Given the description of an element on the screen output the (x, y) to click on. 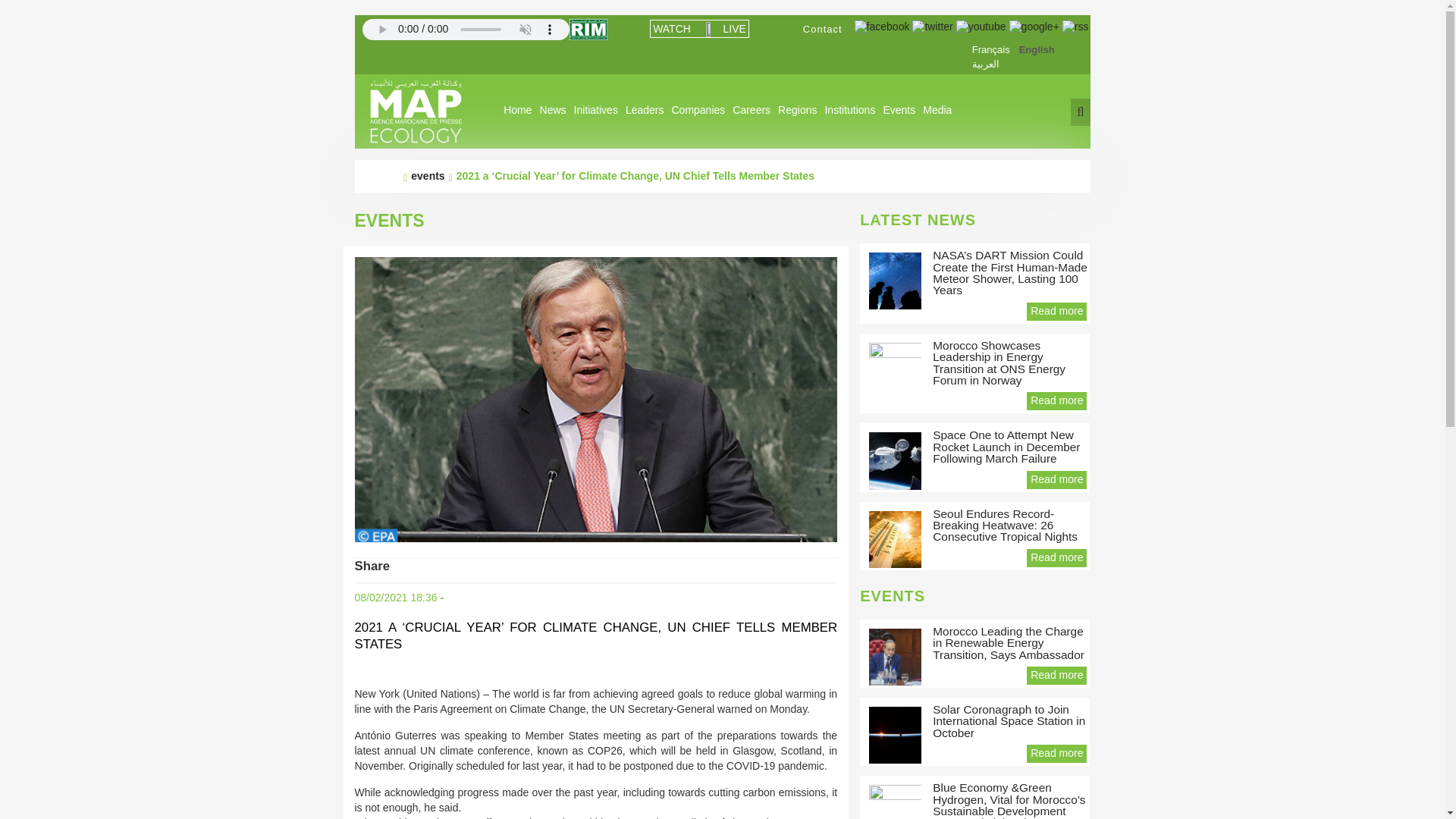
rss (1075, 26)
WATCH LIVE (698, 28)
Initiatives (595, 110)
Companies (697, 110)
Careers (751, 110)
Leaders (644, 110)
twitter (932, 25)
facebook (882, 26)
Leaders (644, 110)
news (552, 110)
